Given the description of an element on the screen output the (x, y) to click on. 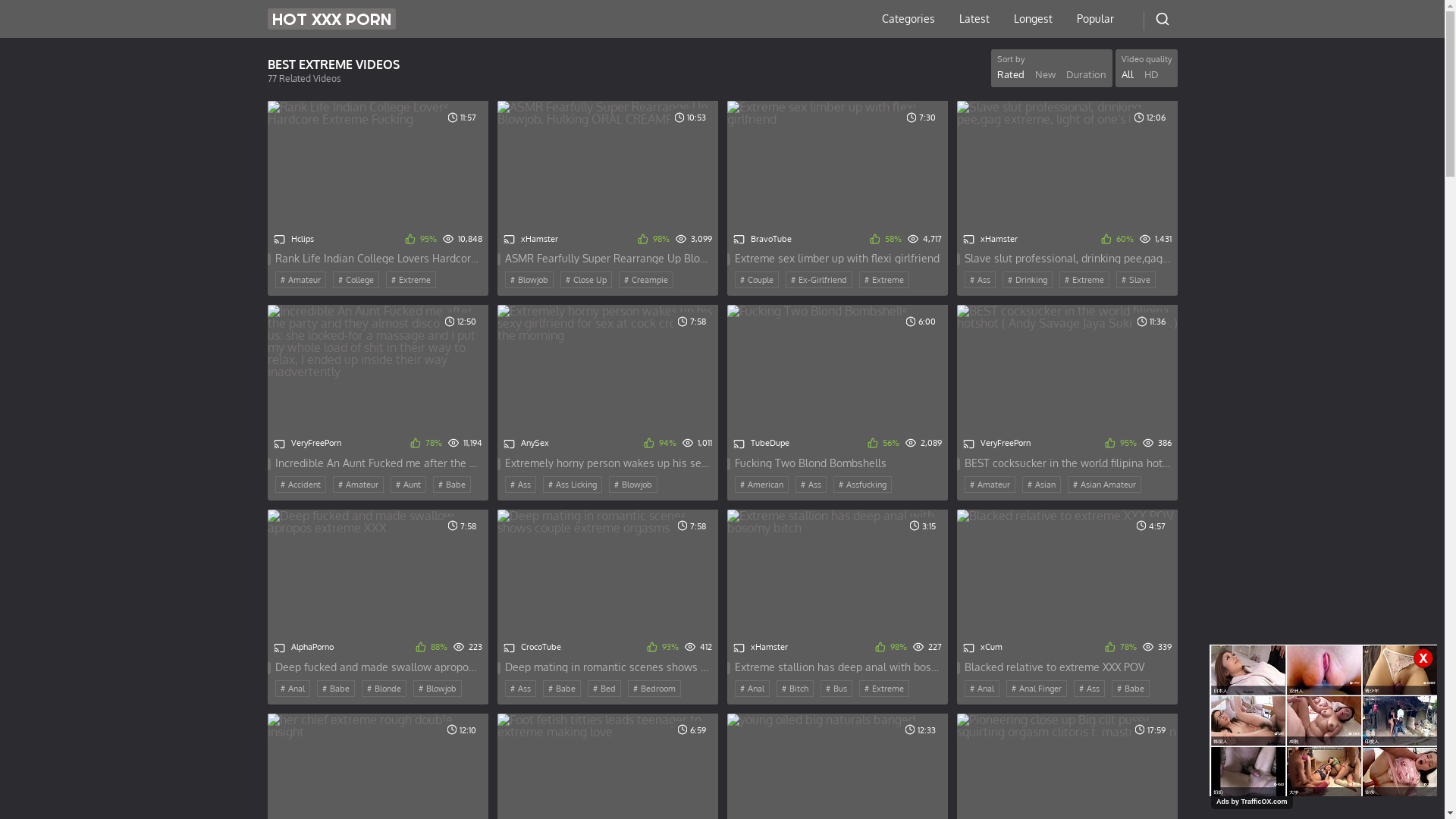
Babe Element type: text (451, 484)
Ass Element type: text (1088, 688)
Duration Element type: text (1086, 74)
Rated Element type: text (1009, 74)
All Element type: text (1126, 74)
Blowjob Element type: text (632, 484)
CrocoTube Element type: text (532, 647)
Babe Element type: text (1130, 688)
Bitch Element type: text (794, 688)
Drinking Element type: text (1027, 279)
HOT XXX PORN Element type: text (330, 18)
VeryFreePorn Element type: text (996, 443)
Deep fucked and made swallow apropos extreme XXX Element type: text (377, 667)
Ass Licking Element type: text (572, 484)
xHamster Element type: text (759, 647)
Asian Element type: text (1041, 484)
Blonde Element type: text (382, 688)
Popular Element type: text (1095, 18)
Extreme stallion has deep anal with bosomy bitch Element type: text (836, 667)
Extreme Element type: text (883, 688)
AlphaPorno Element type: text (302, 647)
Bed Element type: text (603, 688)
Amateur Element type: text (989, 484)
Anal Element type: text (981, 688)
Latest Element type: text (973, 18)
Bus Element type: text (836, 688)
Anal Element type: text (751, 688)
HD Element type: text (1150, 74)
Accident Element type: text (299, 484)
Fucking Two Blond Bombshells Element type: text (836, 463)
Ass Element type: text (809, 484)
xCum Element type: text (982, 647)
New Element type: text (1044, 74)
Longest Element type: text (1032, 18)
Categories Element type: text (907, 18)
Creampie Element type: text (645, 279)
VeryFreePorn Element type: text (306, 443)
Ass Element type: text (979, 279)
Babe Element type: text (561, 688)
Blowjob Element type: text (529, 279)
Bedroom Element type: text (653, 688)
xHamster Element type: text (530, 239)
Rank Life Indian College Lovers Hardcore Extreme Fucking Element type: text (377, 258)
American Element type: text (760, 484)
Couple Element type: text (756, 279)
Amateur Element type: text (299, 279)
Aunt Element type: text (407, 484)
Close Up Element type: text (585, 279)
Amateur Element type: text (357, 484)
Extreme Element type: text (883, 279)
Slave Element type: text (1135, 279)
Extreme sex limber up with flexi girlfriend Element type: text (836, 258)
Blacked relative to extreme XXX POV Element type: text (1067, 667)
Babe Element type: text (335, 688)
AnySex Element type: text (526, 443)
Hclips Element type: text (293, 239)
Ass Element type: text (520, 688)
Extreme Element type: text (410, 279)
Anal Element type: text (291, 688)
BravoTube Element type: text (761, 239)
TubeDupe Element type: text (760, 443)
Ex-Girlfriend Element type: text (818, 279)
Extreme Element type: text (1083, 279)
Assfucking Element type: text (861, 484)
Blowjob Element type: text (436, 688)
Ads by TrafficOX.com Element type: text (1251, 801)
Ass Element type: text (520, 484)
Anal Finger Element type: text (1035, 688)
Deep mating in romantic scenes shows couple extreme orgasms Element type: text (607, 667)
xHamster Element type: text (990, 239)
Asian Amateur Element type: text (1104, 484)
College Element type: text (355, 279)
